Given the description of an element on the screen output the (x, y) to click on. 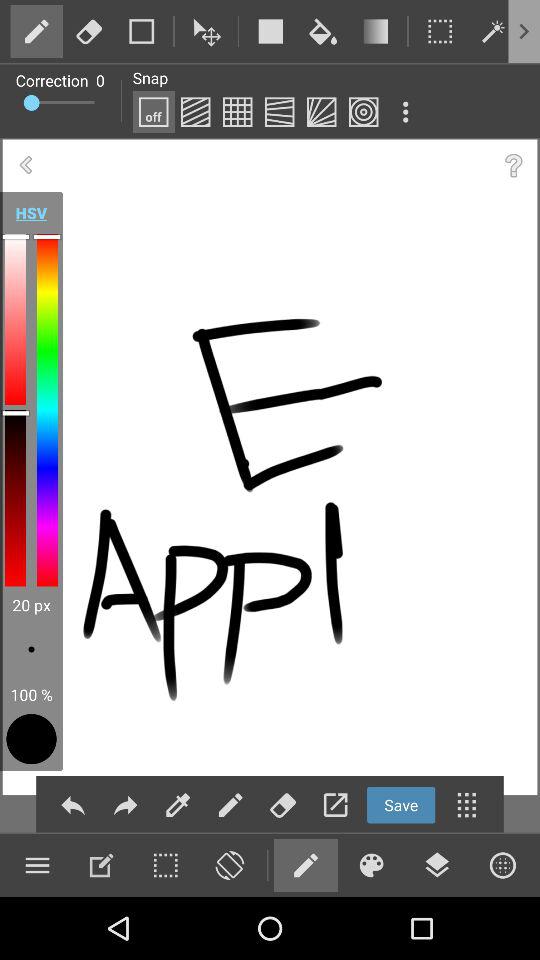
shade (195, 112)
